Given the description of an element on the screen output the (x, y) to click on. 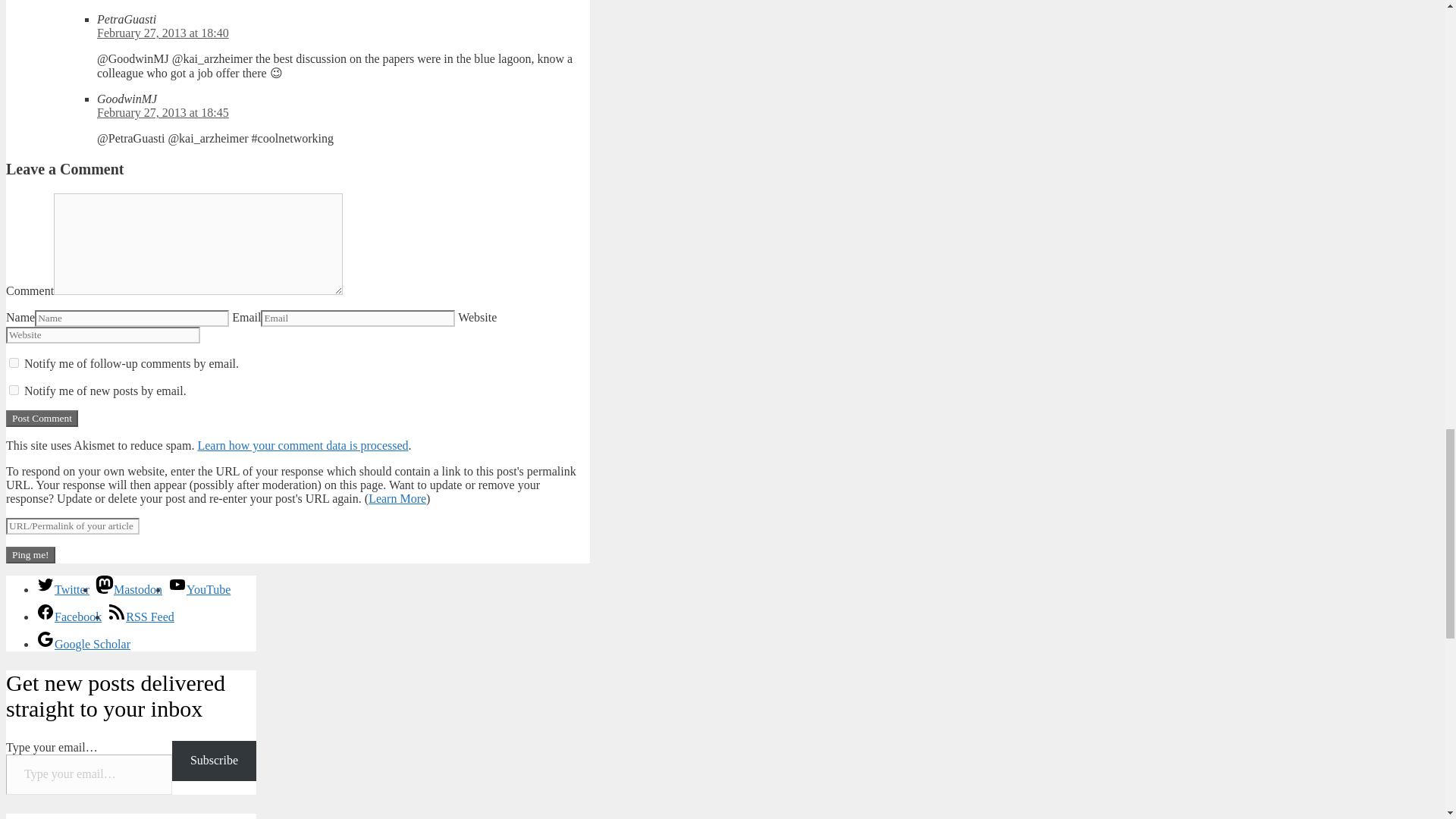
Post Comment (41, 418)
subscribe (13, 362)
subscribe (13, 389)
Please fill in this field. (88, 774)
Ping me! (30, 555)
